Given the description of an element on the screen output the (x, y) to click on. 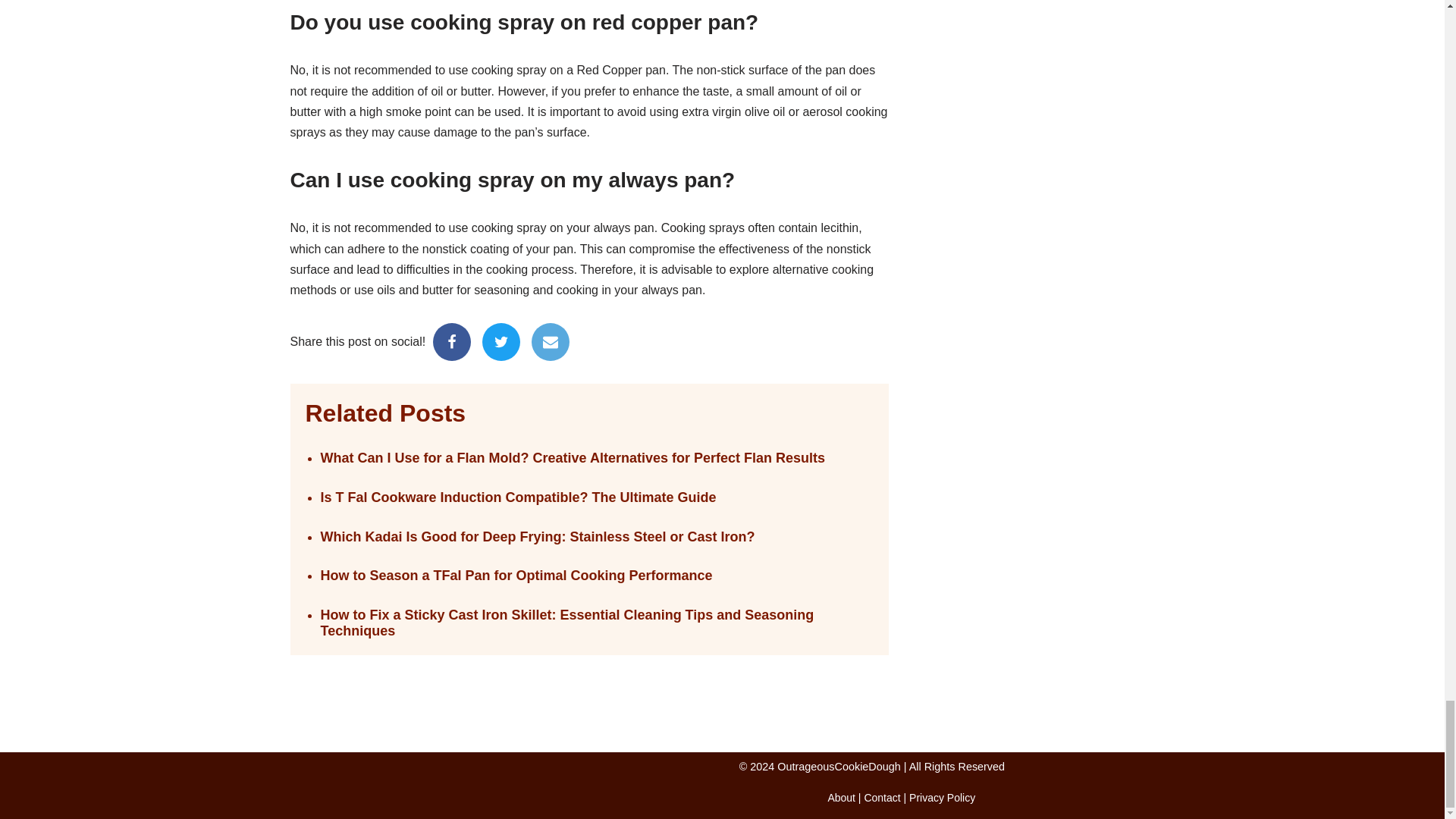
How to Season a TFal Pan for Optimal Cooking Performance (596, 576)
Twitter (500, 341)
Is T Fal Cookware Induction Compatible? The Ultimate Guide (596, 497)
Email (550, 341)
Facebook (451, 341)
